Given the description of an element on the screen output the (x, y) to click on. 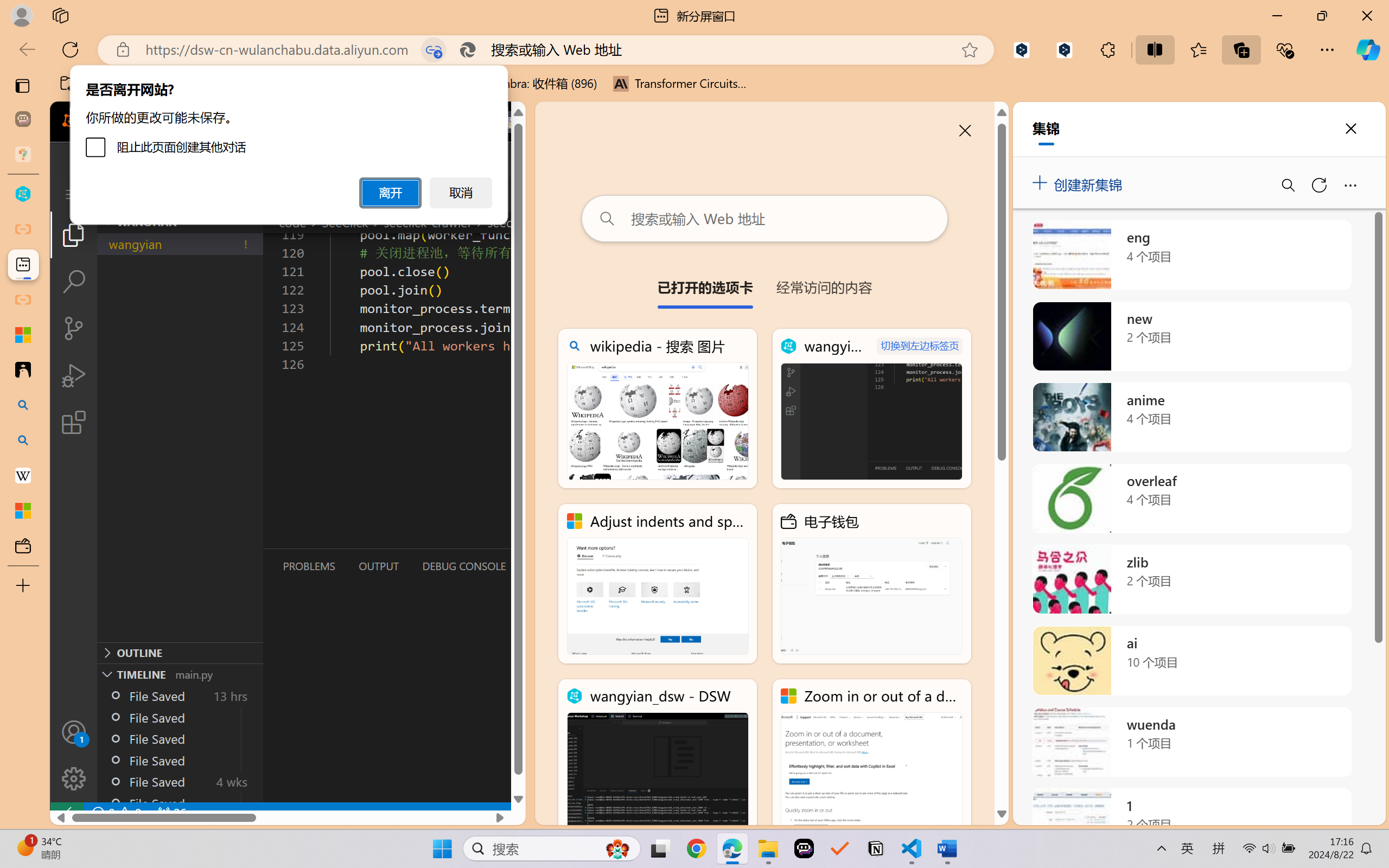
Font Color (63, 51)
Shape Fill (129, 62)
Swap "from" and "to" languages. (1271, 231)
Text Highlight Color (96, 62)
Captions & Subtitles (553, 91)
Shape Fill (129, 51)
